Given the description of an element on the screen output the (x, y) to click on. 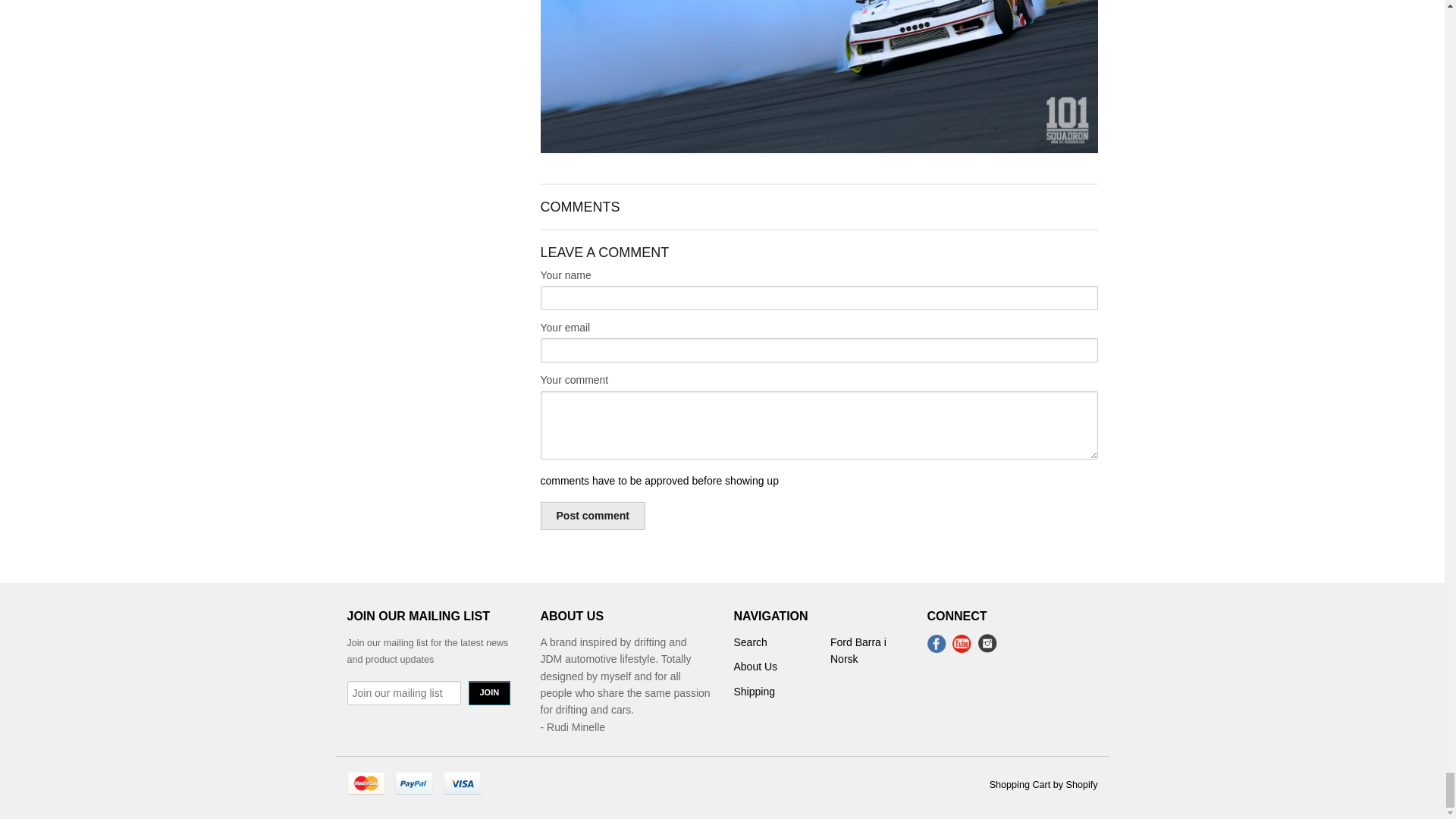
Post comment (592, 515)
JOIN (489, 692)
